Given the description of an element on the screen output the (x, y) to click on. 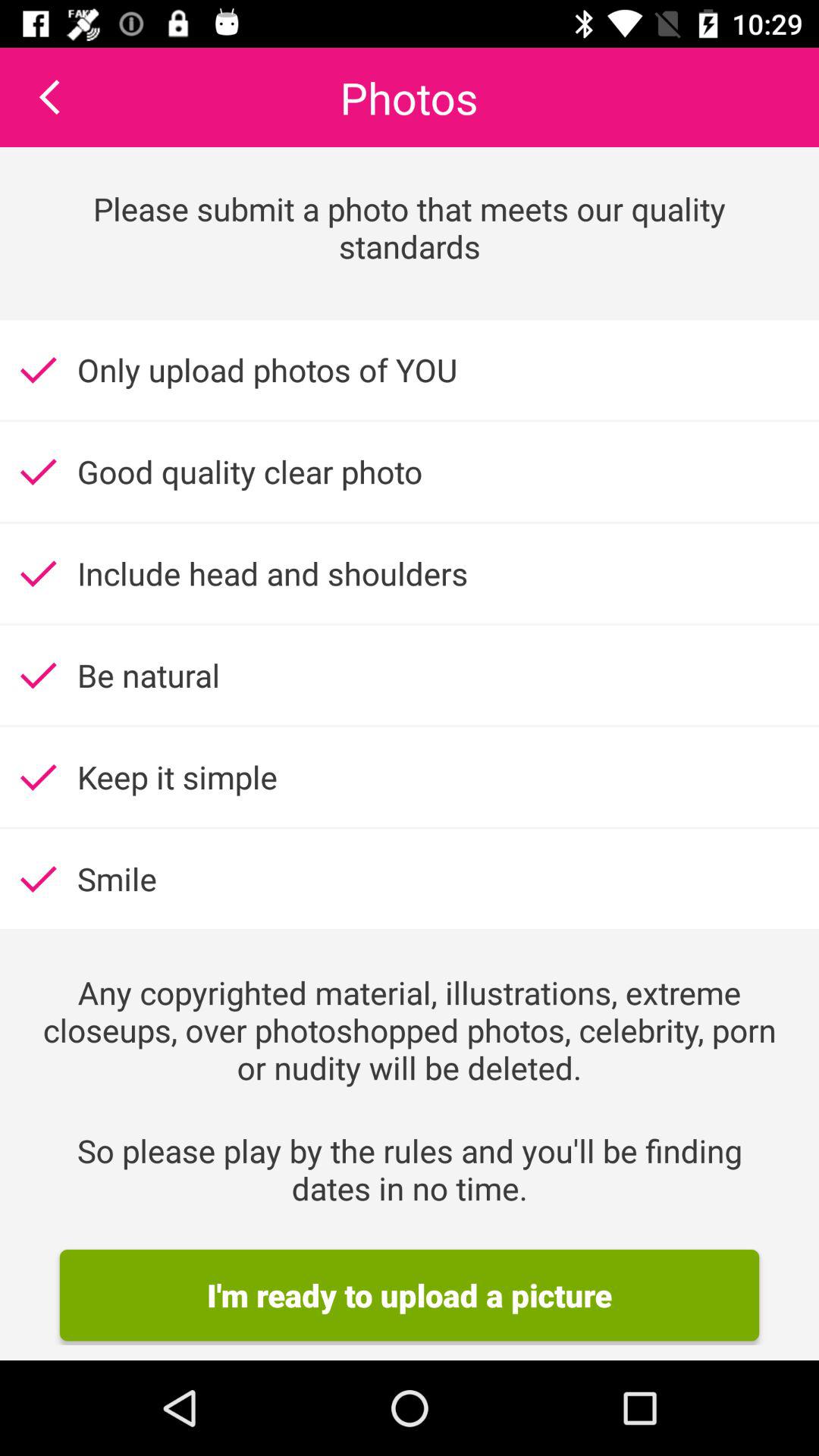
select the i m ready icon (409, 1295)
